Given the description of an element on the screen output the (x, y) to click on. 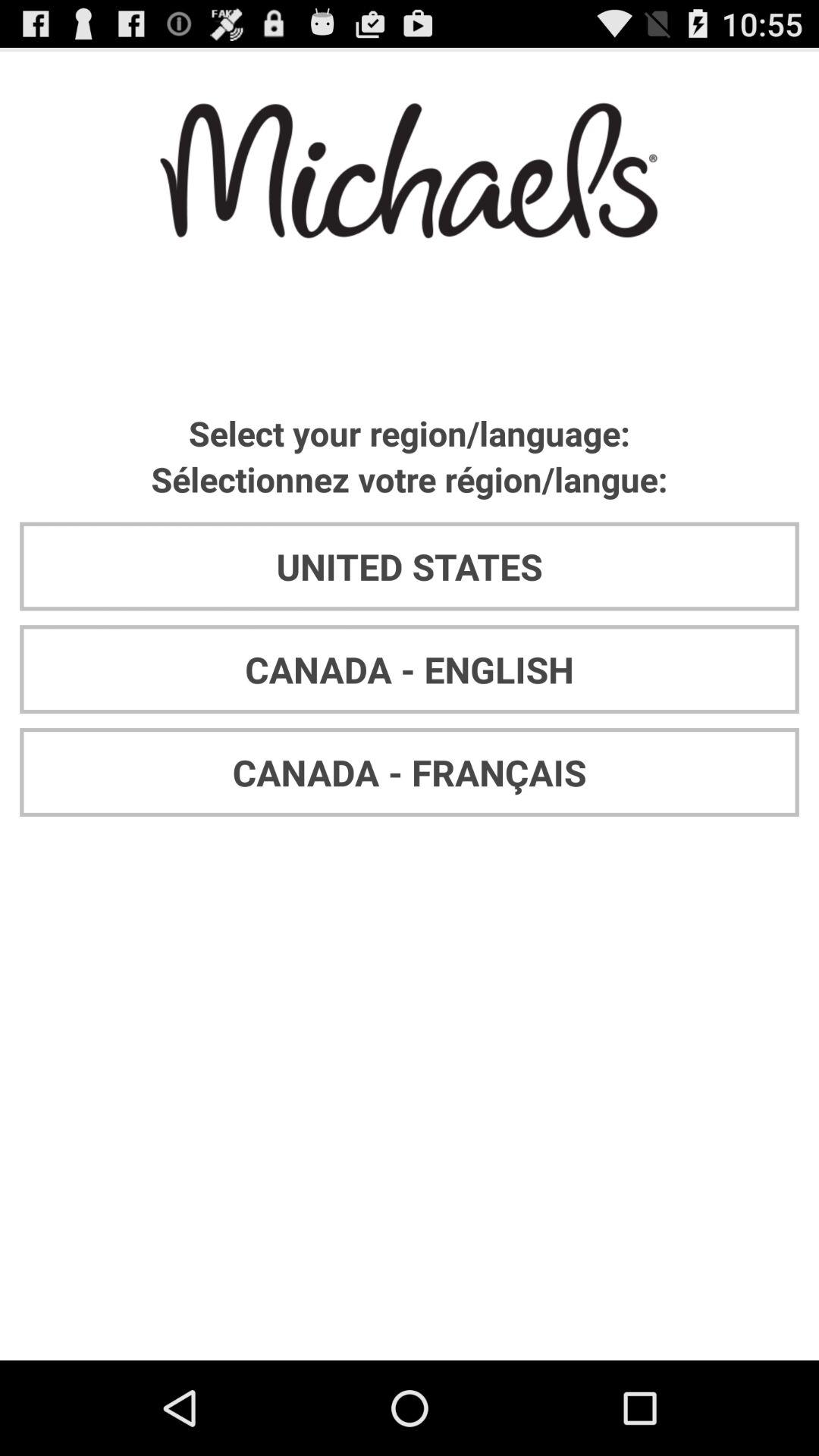
flip until canada - english (409, 669)
